Given the description of an element on the screen output the (x, y) to click on. 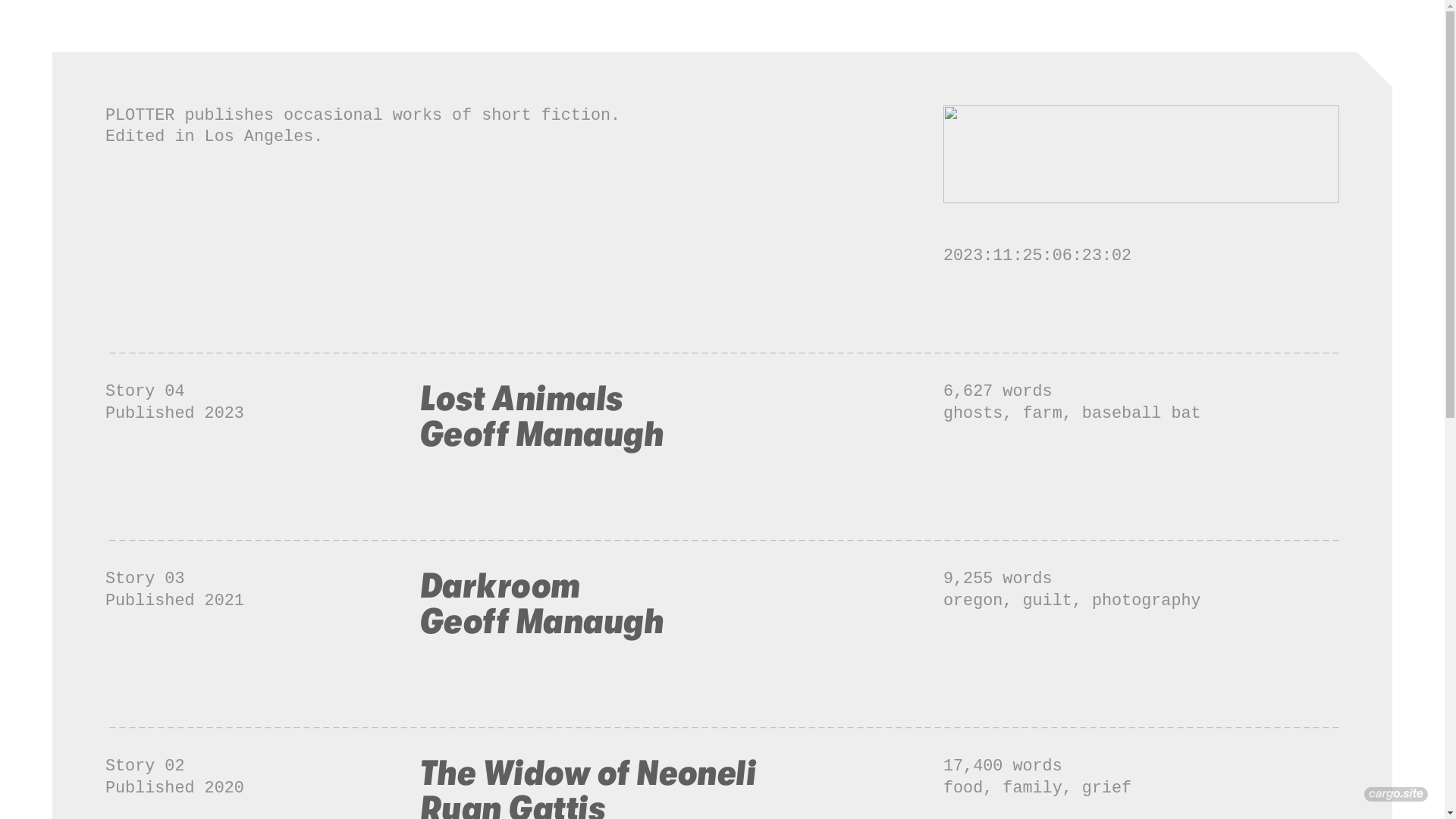
Darkroom
Geoff Manaugh Element type: text (540, 603)
Lost Animals
Geoff Manaugh Element type: text (540, 416)
